Given the description of an element on the screen output the (x, y) to click on. 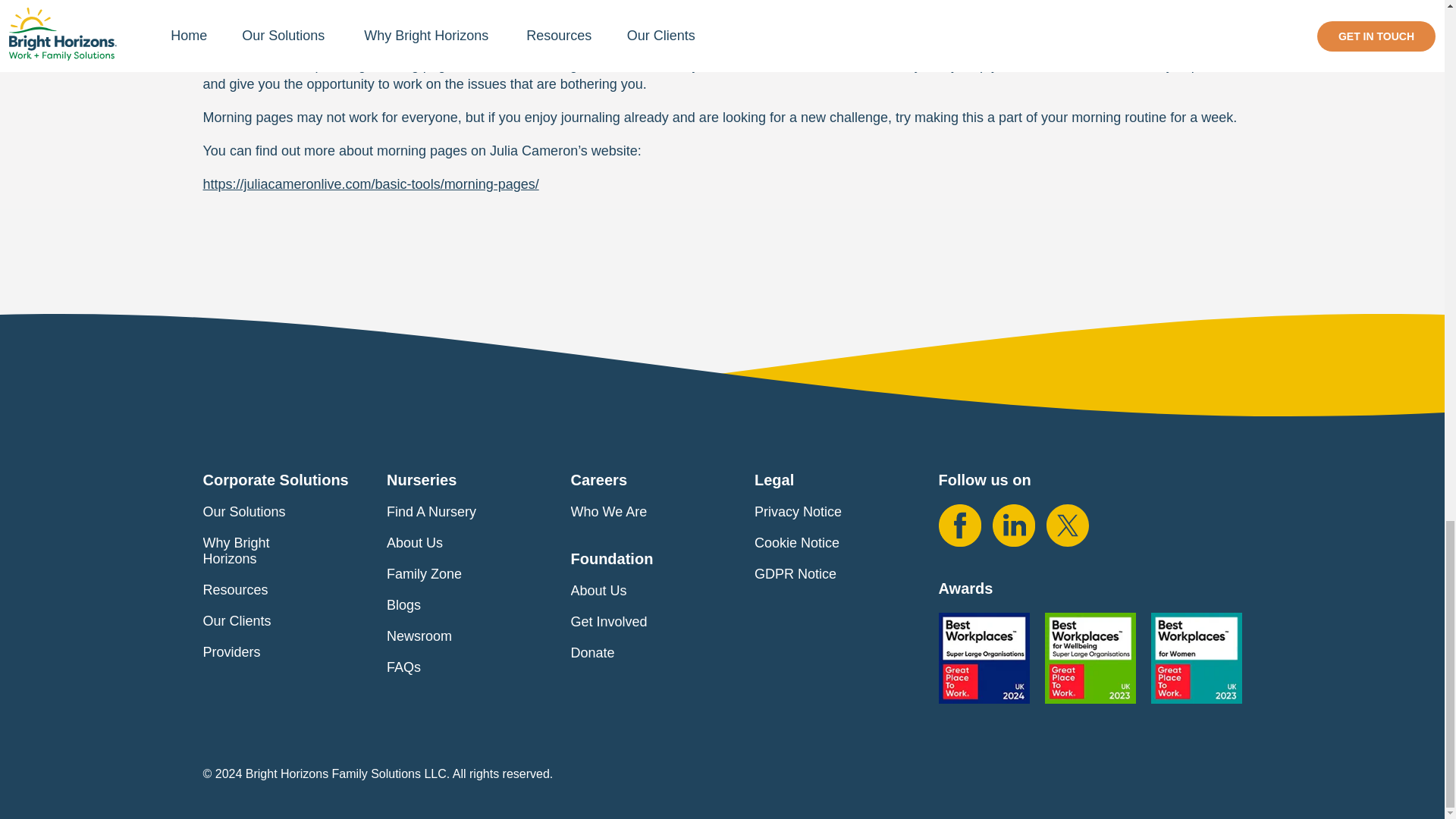
Donate (607, 652)
Facebook - Bright Horizons UK (960, 526)
Linkedin - Bright Horizons UK (1012, 526)
Foundation (611, 558)
Who We Are (623, 512)
About Us (430, 543)
Our Solutions (259, 512)
Corporate Solutions (276, 479)
Nurseries (422, 479)
FAQs (419, 667)
Find A Nursery (446, 512)
FAQs (419, 667)
X - Bright Horizons UK (1067, 526)
Find A Nursery (446, 512)
Get Involved (623, 621)
